Given the description of an element on the screen output the (x, y) to click on. 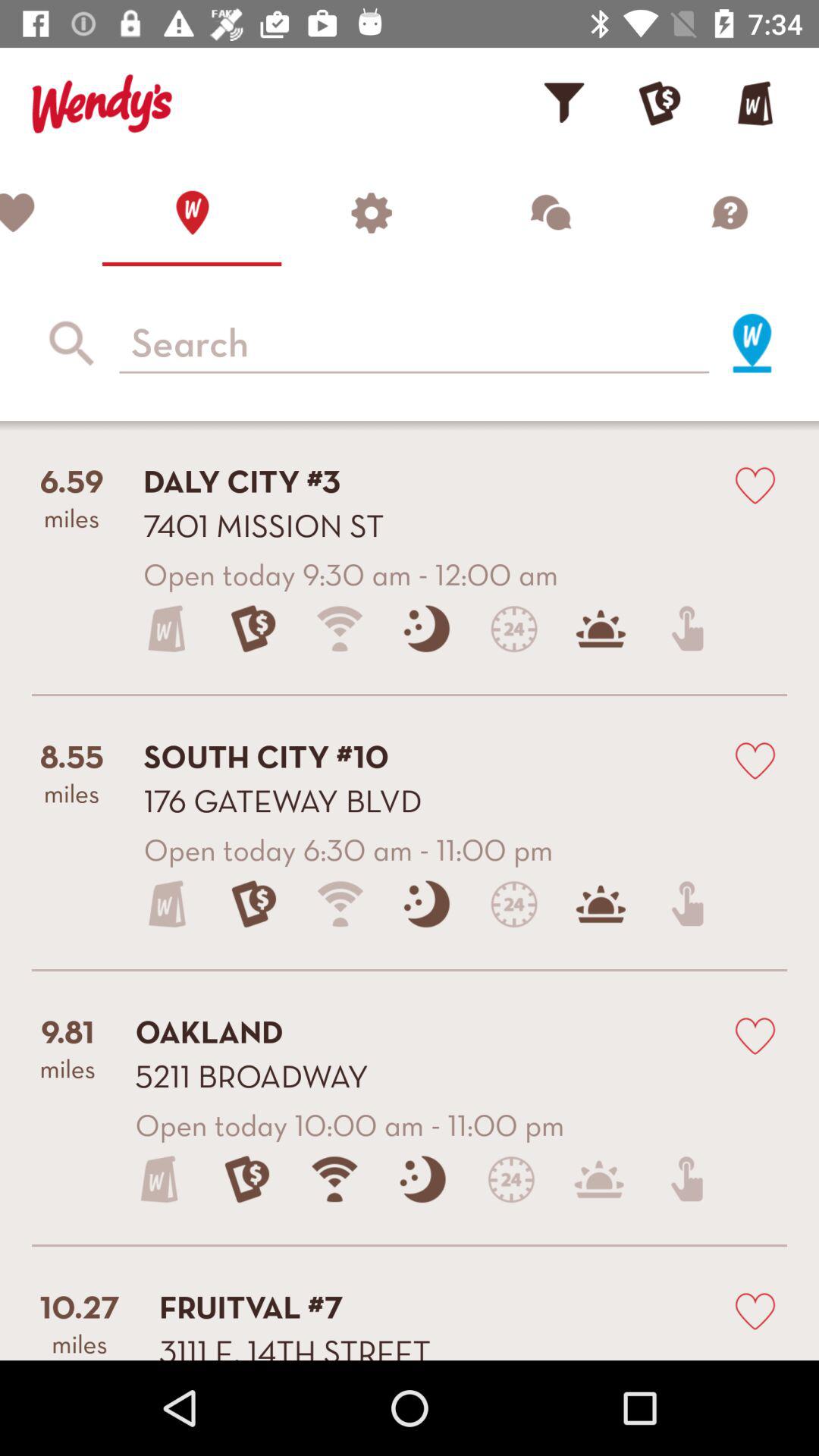
add to favorites (51, 212)
